Given the description of an element on the screen output the (x, y) to click on. 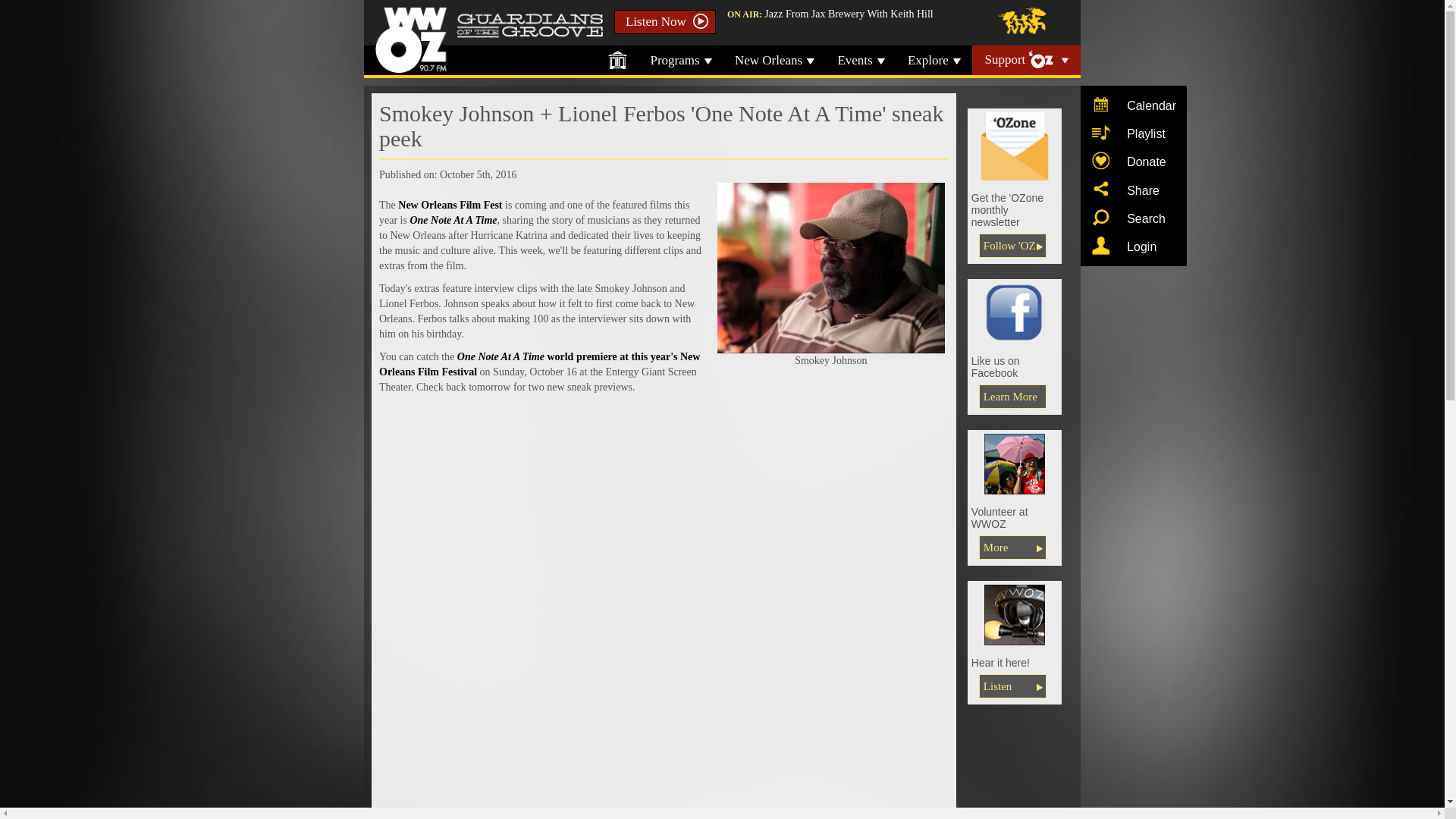
Navy Guardians Tee (1014, 463)
WWOZ Playlist (1100, 132)
WWOZ Calendar (1100, 104)
Jazz From Jax Brewery With Keith Hill (848, 13)
Listen Live (1014, 614)
Get the 'OZone monthly newsletter (1012, 245)
Listen Live (1012, 686)
Facebook (1012, 396)
Get the 'OZone monthly newsletter (1014, 146)
Volunteer (1012, 547)
Facebook (1014, 313)
Listen Now (665, 21)
